Given the description of an element on the screen output the (x, y) to click on. 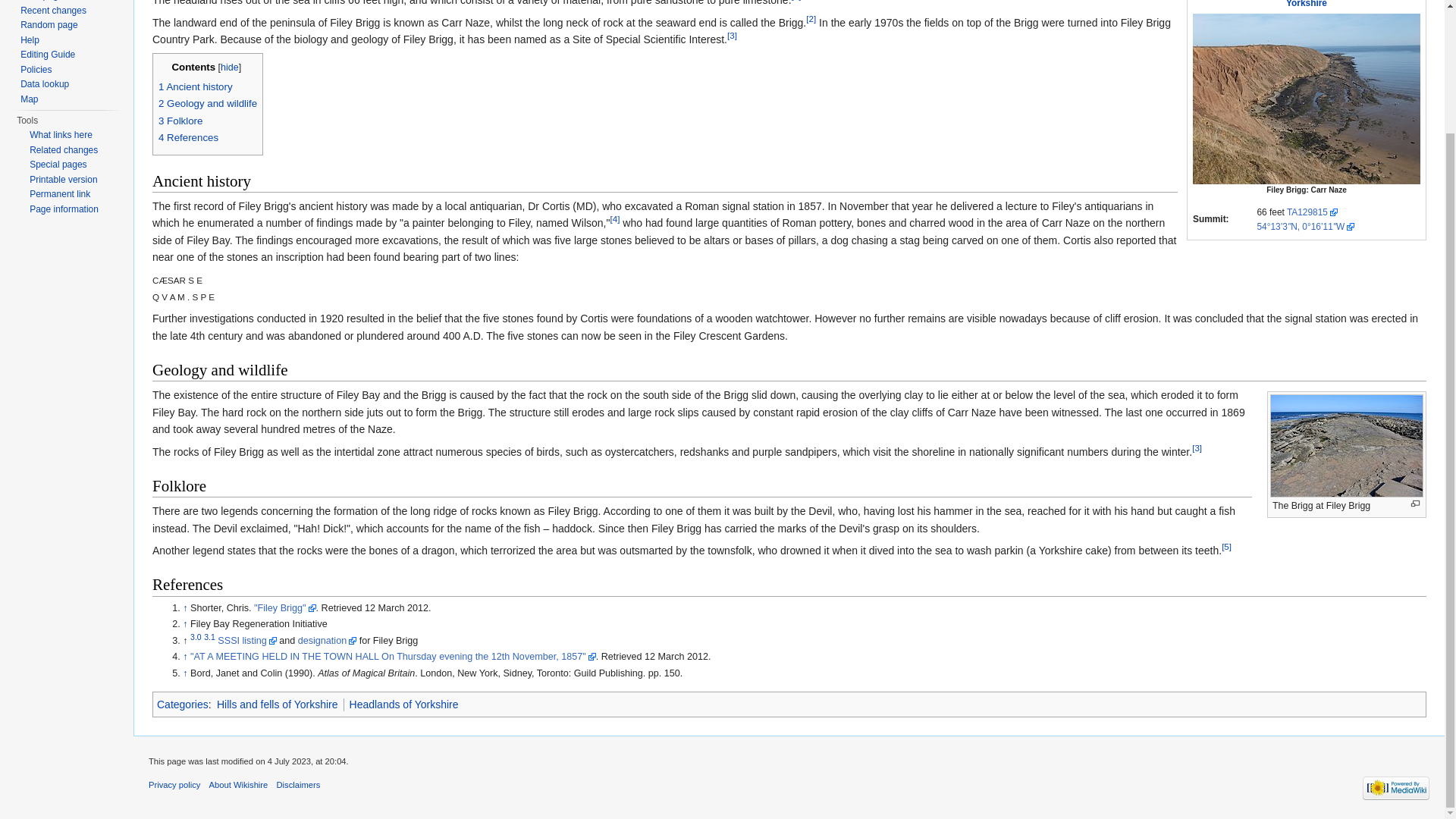
4 References (188, 137)
Special:Categories (182, 704)
designation (327, 640)
3.1 (209, 636)
Enlarge (1415, 503)
Category:Hills and fells of Yorkshire (276, 704)
TA129815 (1312, 212)
SSSI listing (246, 640)
Category:Headlands of Yorkshire (403, 704)
3 Folklore (180, 120)
